Given the description of an element on the screen output the (x, y) to click on. 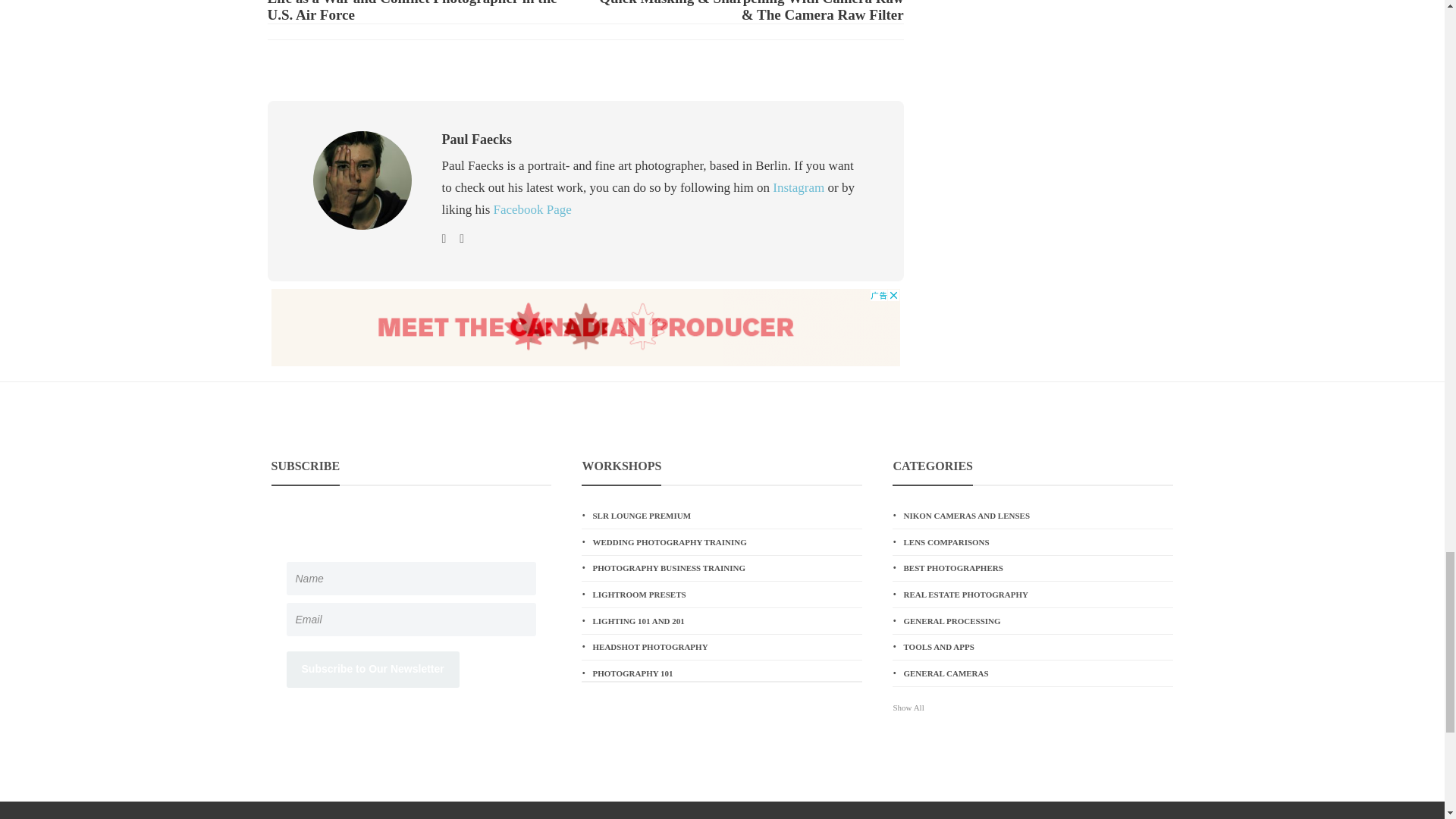
Advertisement (584, 327)
